Given the description of an element on the screen output the (x, y) to click on. 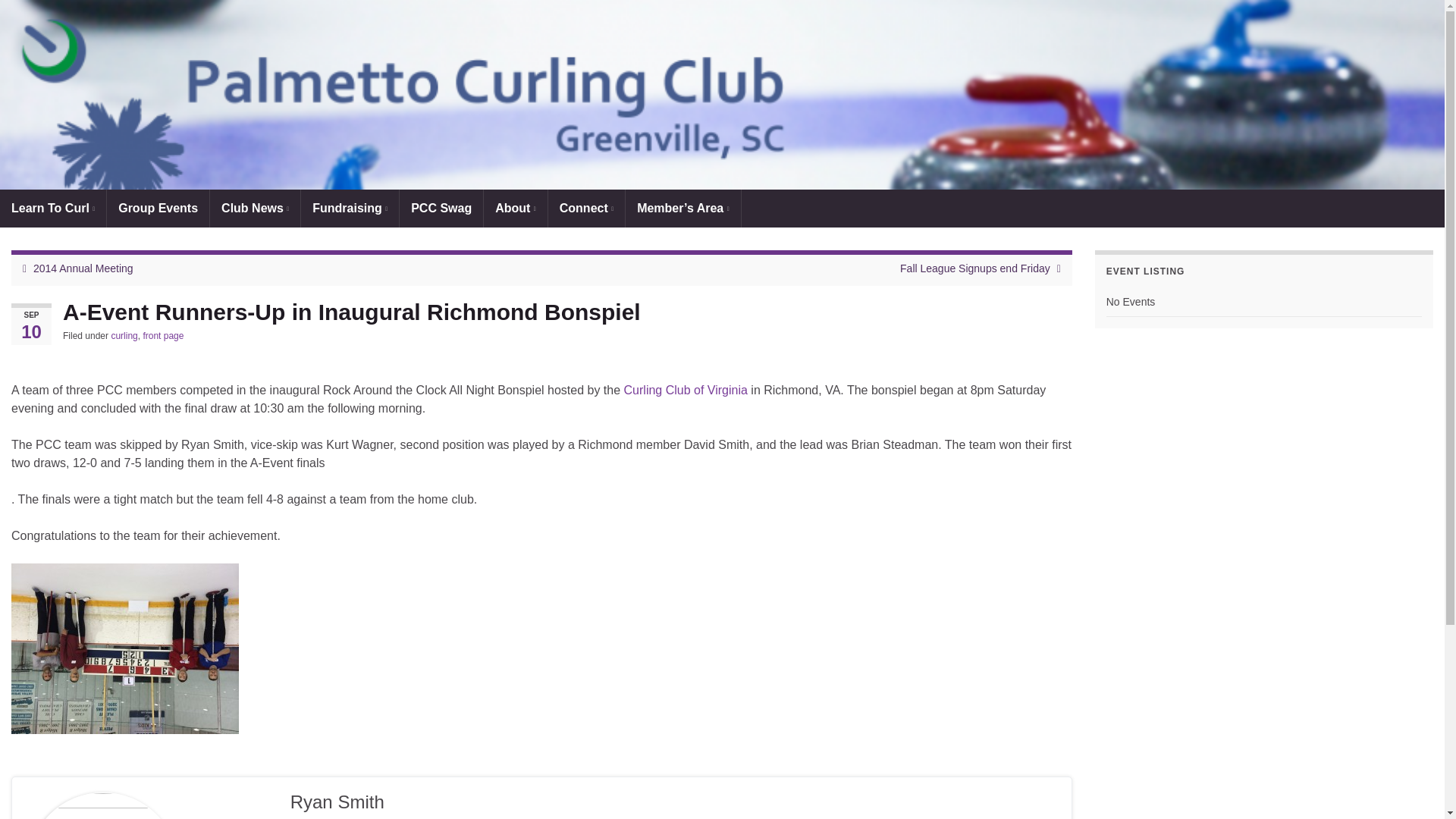
Club News (254, 208)
2014 Annual Meeting (83, 268)
Fall League Signups end Friday (974, 268)
Learn To Curl (53, 208)
Group Events (157, 208)
Connect (586, 208)
Curling Club of Virginia (686, 390)
PCC Swag (440, 208)
front page (162, 335)
curling (123, 335)
Fundraising (349, 208)
About (515, 208)
